Given the description of an element on the screen output the (x, y) to click on. 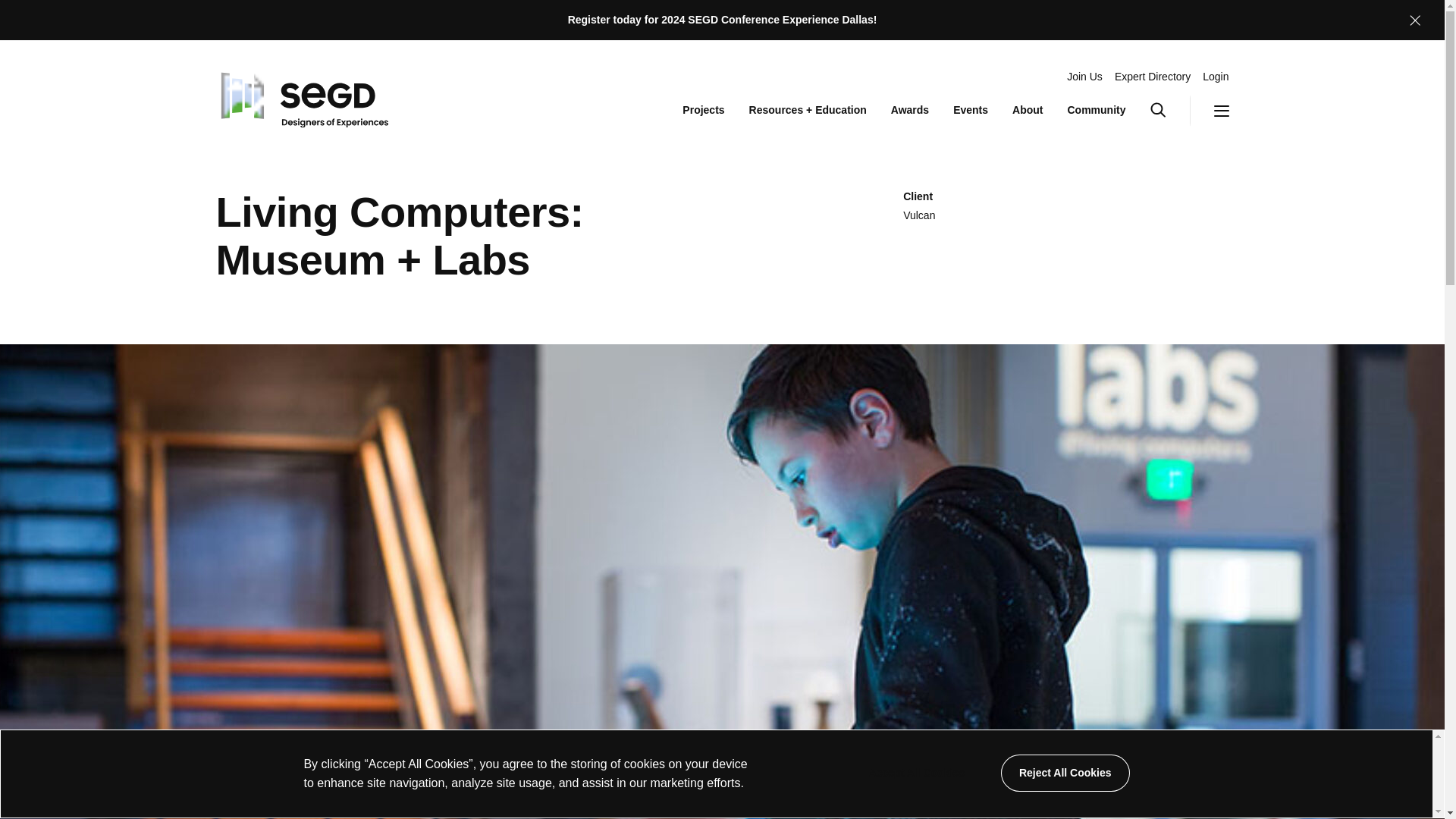
Expert Directory (1153, 76)
Open search (1169, 110)
Home (301, 95)
Reject All Cookies (1065, 772)
Login (1215, 76)
Join Us (1084, 76)
Awards (909, 110)
Accept All Cookies (1208, 110)
Skip to content (916, 772)
